Given the description of an element on the screen output the (x, y) to click on. 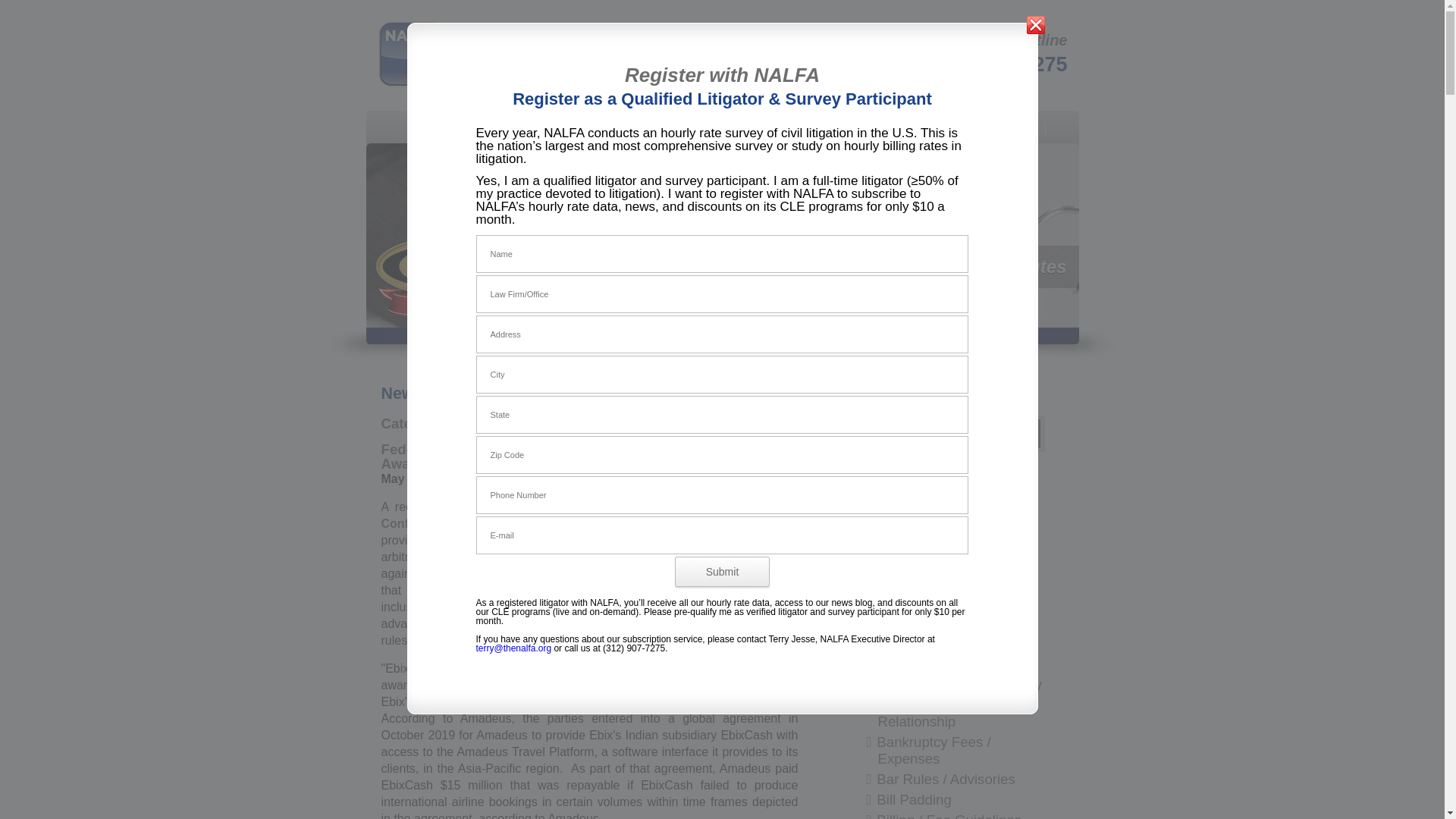
About NALFA (496, 128)
Annual Hourly Rate Data (489, 152)
Best Practices (588, 128)
CLE On-Demand Registration (804, 152)
CLE Programs (999, 128)
News Blog (913, 128)
Recommended Service (449, 291)
Custom Hourly Rate Surveys (641, 152)
Home (423, 128)
